Given the description of an element on the screen output the (x, y) to click on. 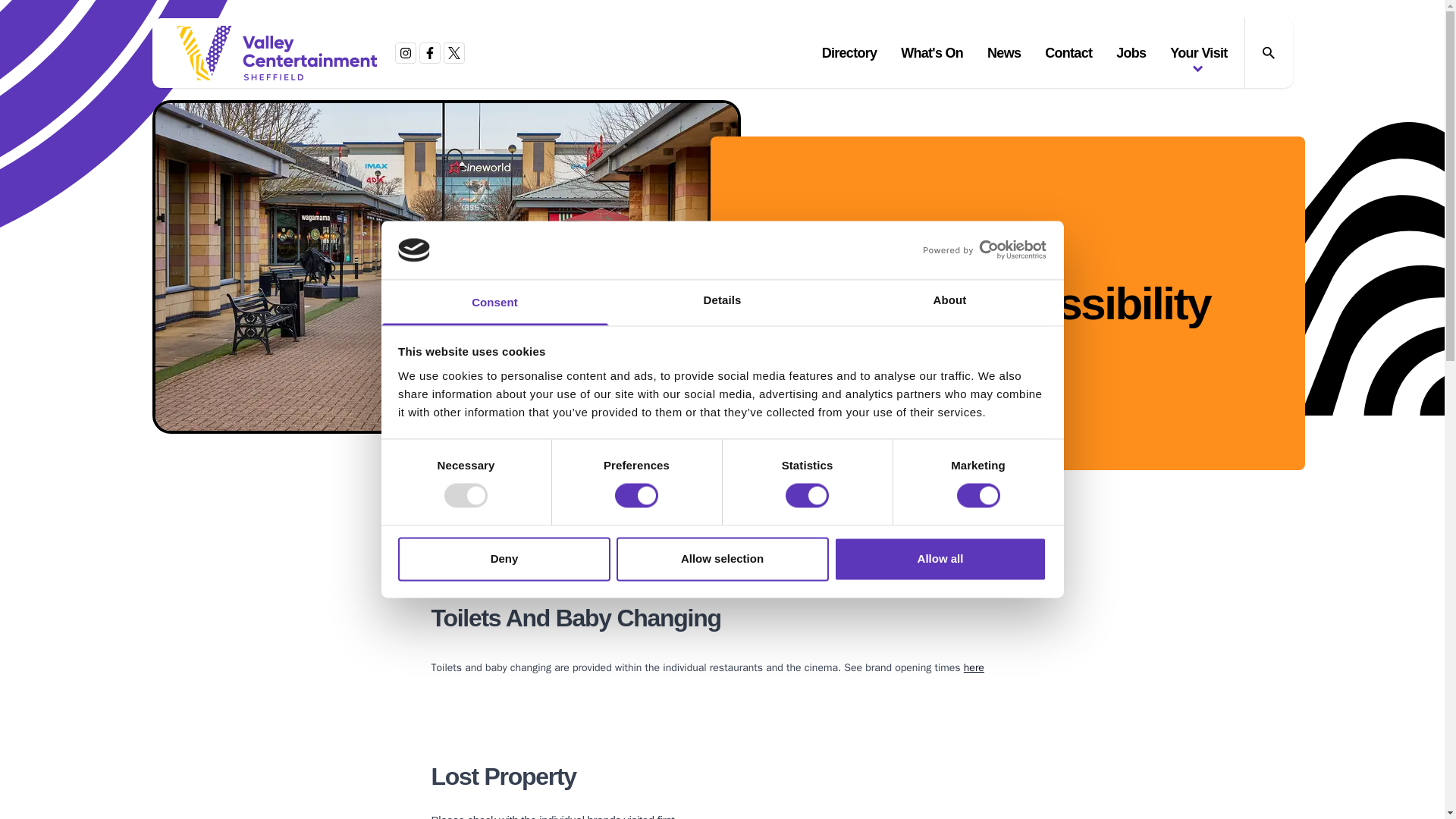
Directory (849, 52)
About (948, 302)
Details (721, 302)
Deny (503, 558)
What's On (932, 52)
Allow all (940, 558)
Consent (494, 302)
Allow selection (721, 558)
